Given the description of an element on the screen output the (x, y) to click on. 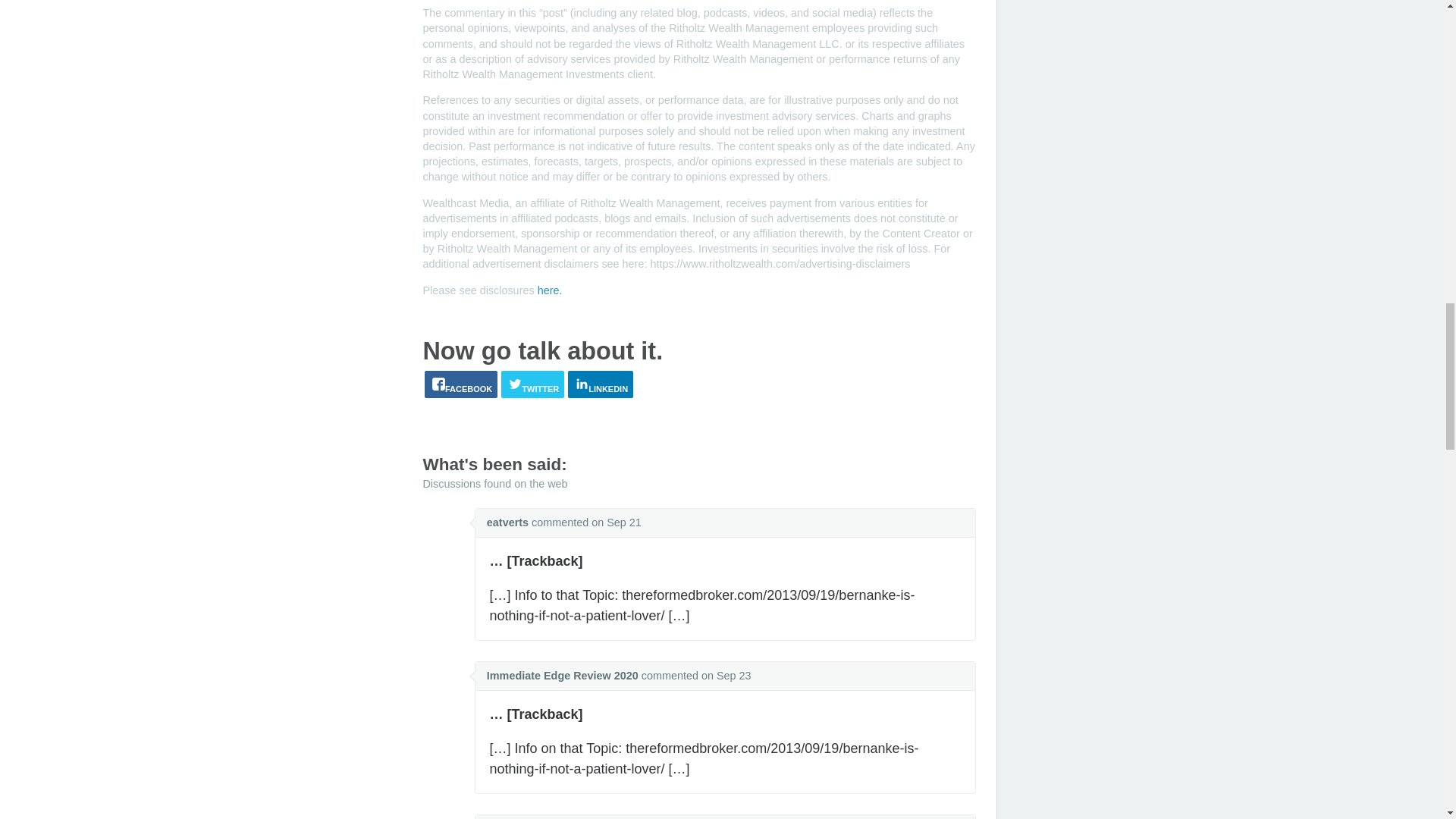
FACEBOOK (461, 384)
TWITTER (532, 384)
here. (549, 290)
Immediate Edge Review 2020 (562, 675)
LINKEDIN (600, 384)
eatverts (507, 522)
